Given the description of an element on the screen output the (x, y) to click on. 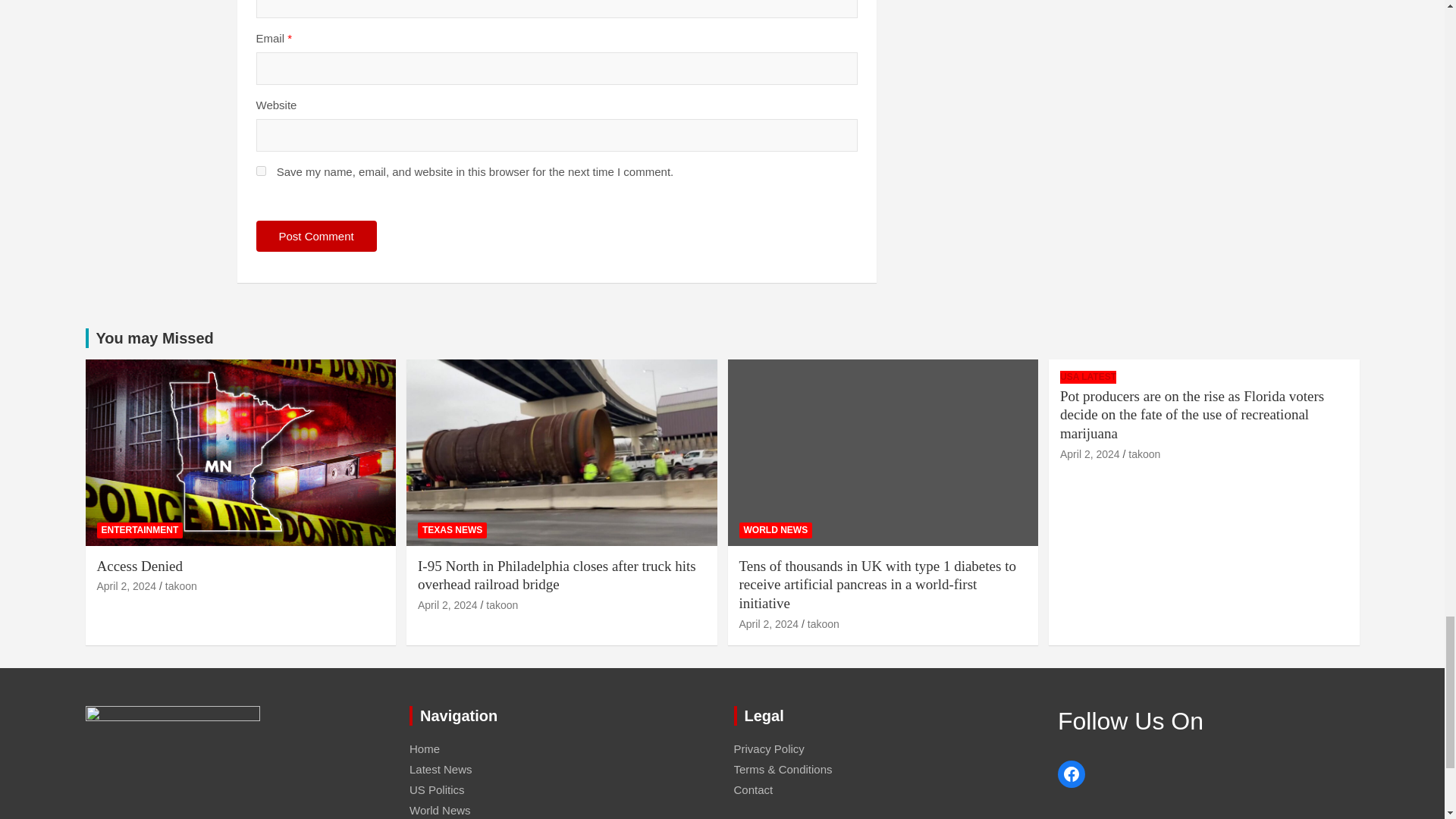
You may Missed (154, 338)
Post Comment (316, 235)
Post Comment (316, 235)
yes (261, 171)
